Given the description of an element on the screen output the (x, y) to click on. 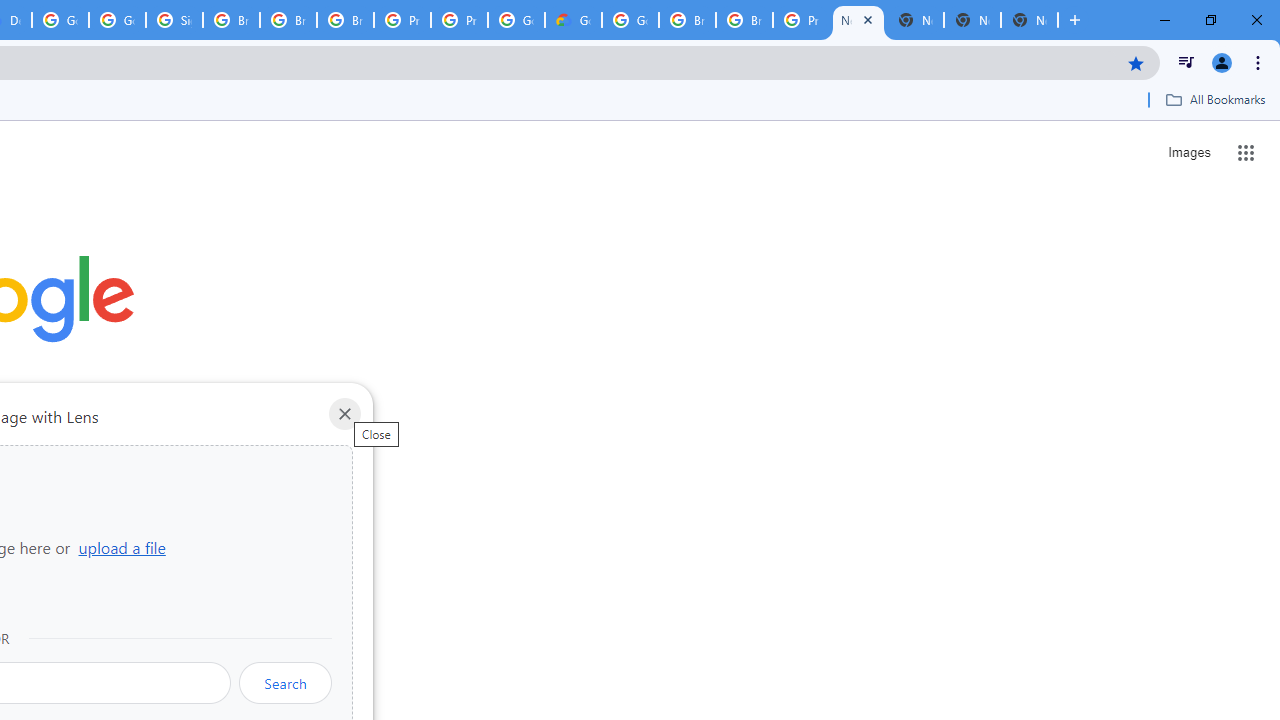
Restore (1210, 20)
You (1221, 62)
All Bookmarks (1215, 99)
New Tab (858, 20)
Google Cloud Platform (630, 20)
Minimize (1165, 20)
Browse Chrome as a guest - Computer - Google Chrome Help (687, 20)
Chrome (1260, 62)
Control your music, videos, and more (1185, 62)
Bookmark this tab (1135, 62)
New Tab (1029, 20)
